Given the description of an element on the screen output the (x, y) to click on. 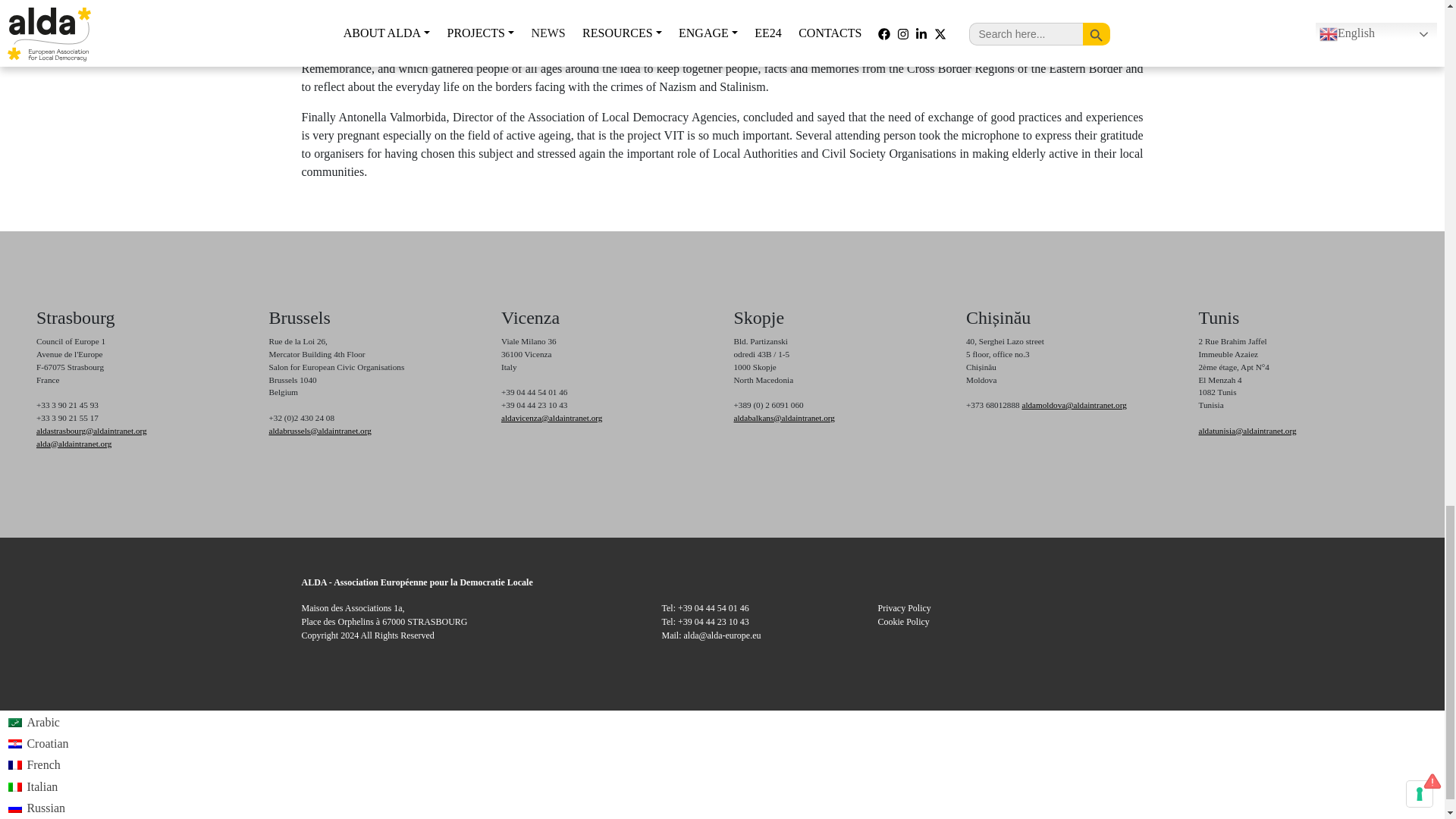
Privacy Policy  (904, 607)
Cookie Policy  (903, 621)
